Given the description of an element on the screen output the (x, y) to click on. 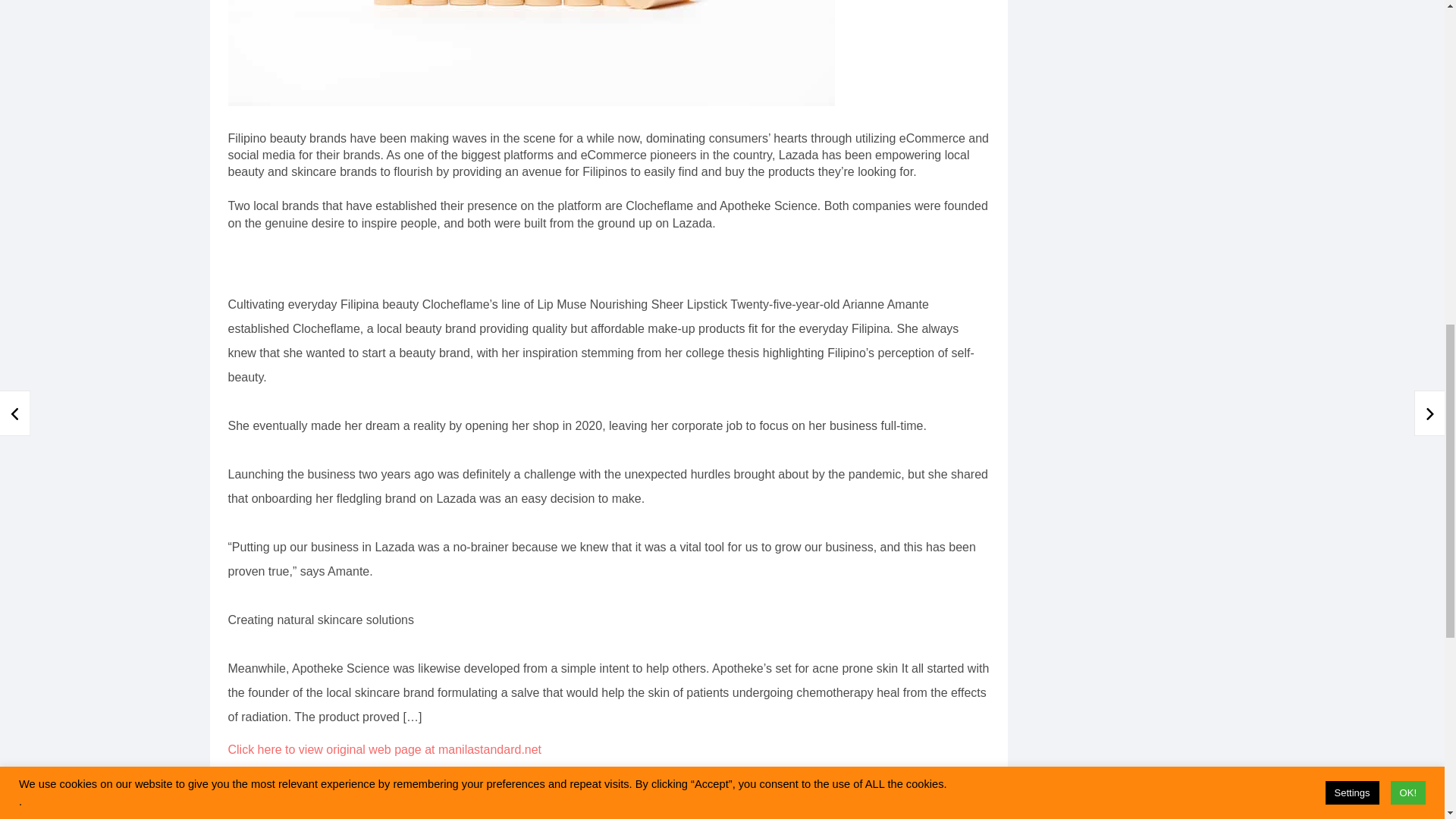
Mr Curator Robot (387, 795)
Click here to view original web page at manilastandard.net (384, 748)
Two homegrown Filipino brands find success on eCommerce (530, 53)
